Given the description of an element on the screen output the (x, y) to click on. 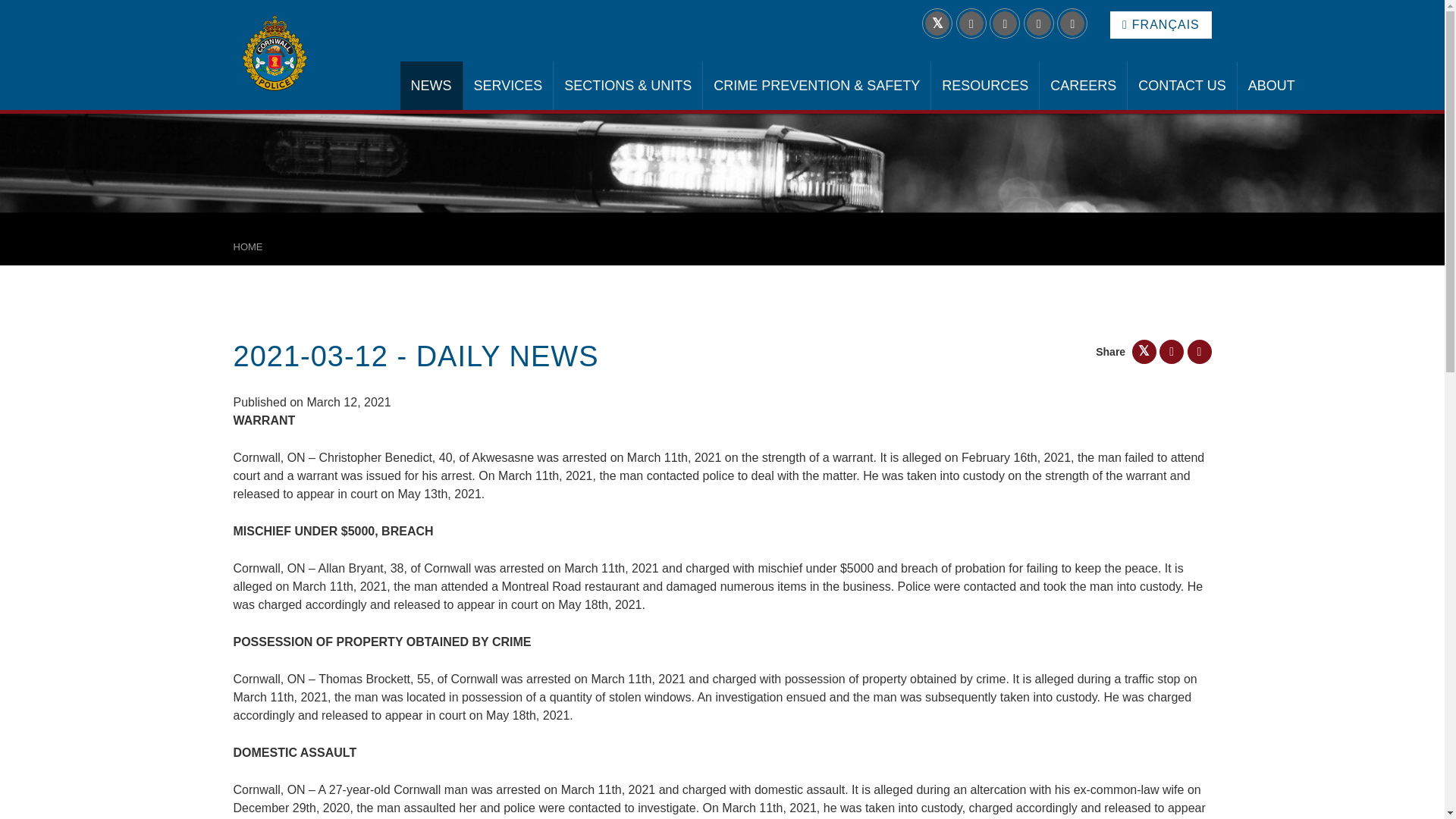
Follow us on Facebook (1004, 23)
Follow us on YouTube (1071, 23)
Follow us on Twitter (936, 23)
Follow us on Instagram (1038, 23)
SERVICES (508, 85)
Follow us on LinkedIn (971, 23)
NEWS (431, 85)
